Given the description of an element on the screen output the (x, y) to click on. 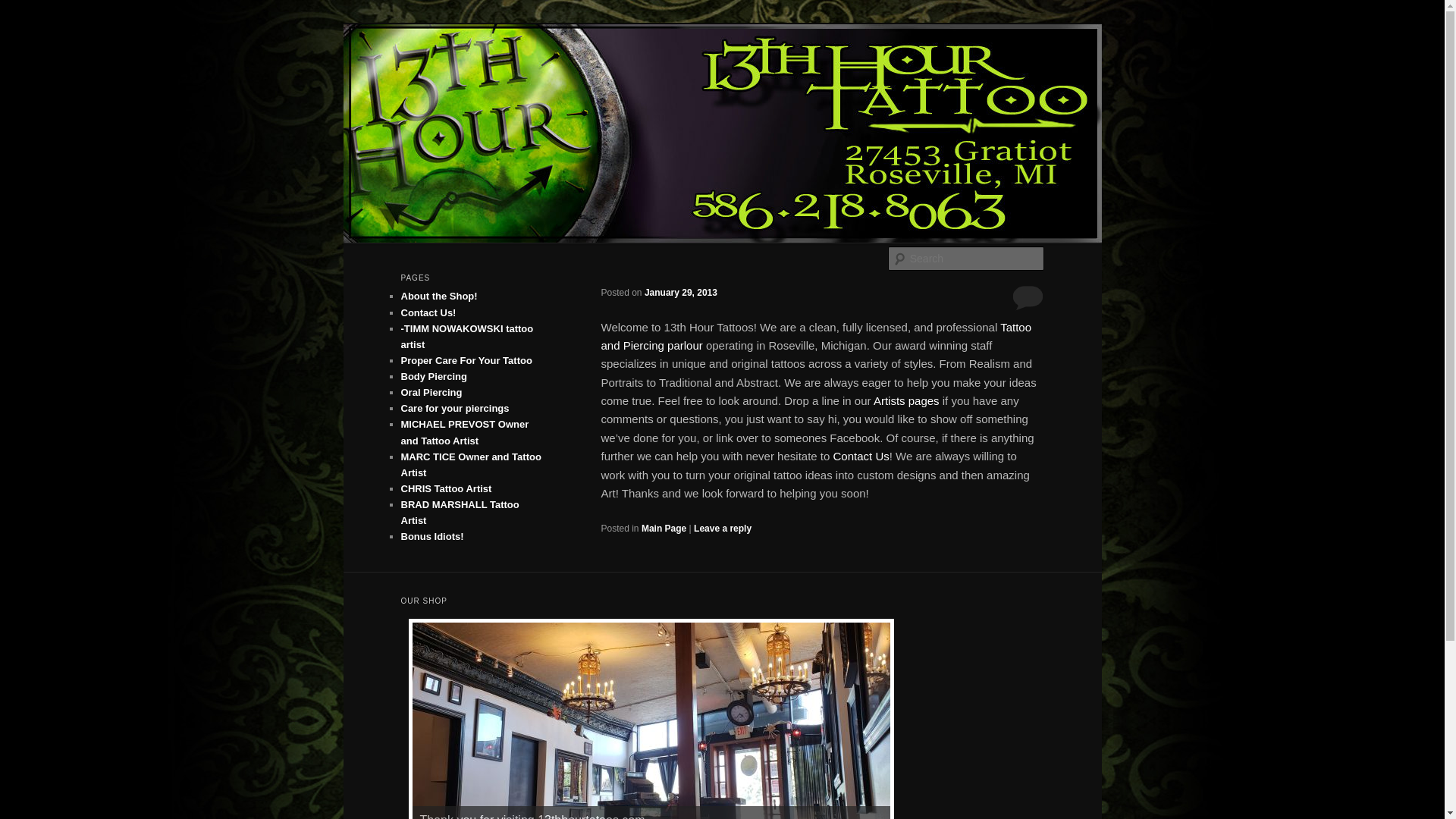
Oral Piercing Element type: text (430, 392)
About the Shop! Element type: text (438, 295)
Skip to primary content Element type: text (22, 22)
Tattoo and Piercing parlour Element type: text (815, 335)
Artists pages Element type: text (906, 400)
MARC TICE Owner and Tattoo Artist Element type: text (470, 464)
Proper Care For Your Tattoo Element type: text (465, 360)
Search Element type: text (24, 8)
Contact Us! Element type: text (427, 311)
Leave a reply Element type: text (722, 528)
Contact Us Element type: text (861, 455)
MICHAEL PREVOST Owner and Tattoo Artist Element type: text (464, 431)
Care for your piercings Element type: text (454, 408)
January 29, 2013 Element type: text (680, 292)
Body Piercing Element type: text (433, 376)
13thhourtattoos.com Element type: text (513, 78)
CHRIS Tattoo Artist Element type: text (445, 488)
Main Page Element type: text (663, 528)
BRAD MARSHALL Tattoo Artist Element type: text (459, 512)
Bonus Idiots! Element type: text (431, 536)
-TIMM NOWAKOWSKI tattoo artist Element type: text (466, 336)
